Given the description of an element on the screen output the (x, y) to click on. 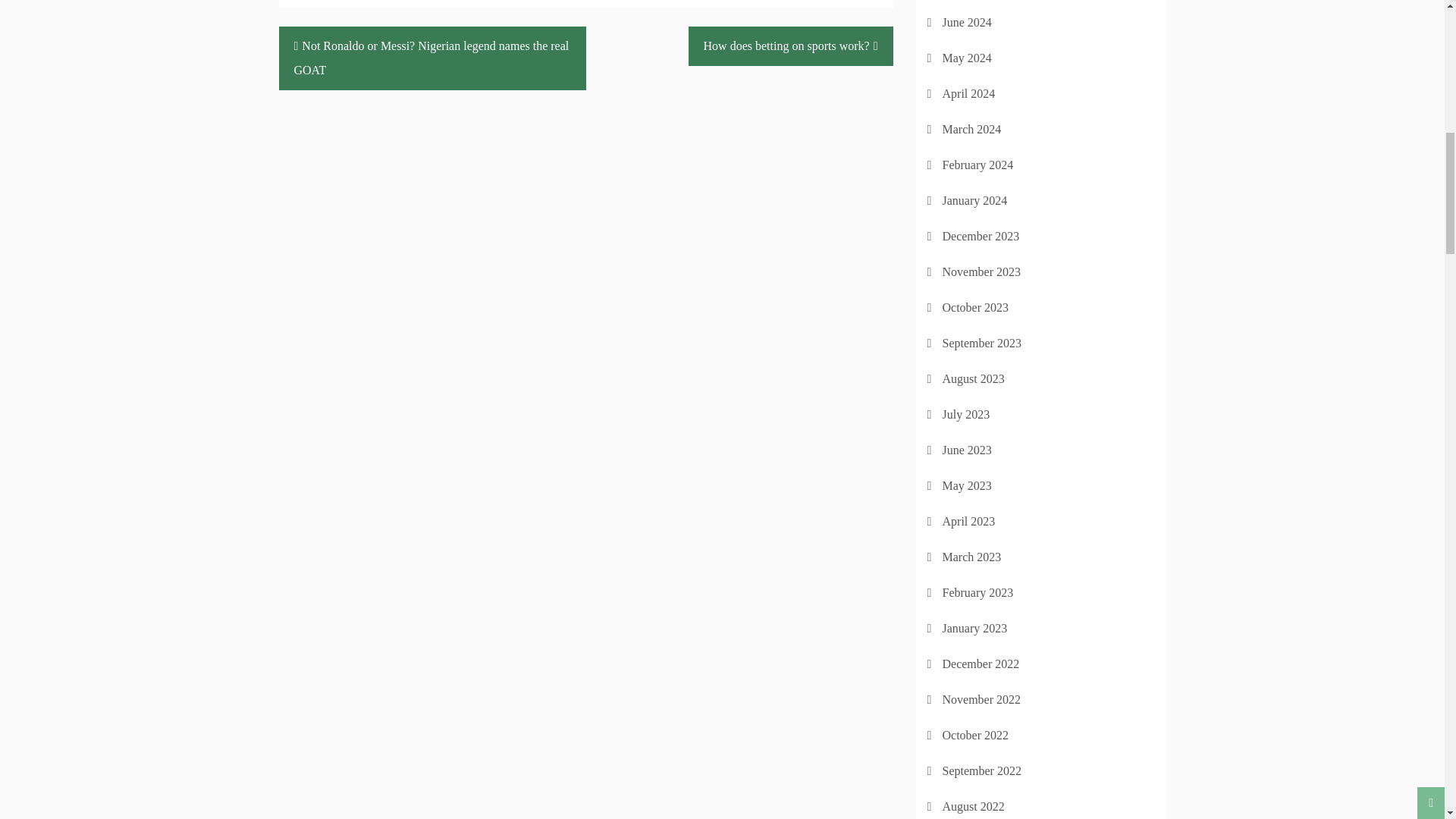
Not Ronaldo or Messi? Nigerian legend names the real GOAT (432, 57)
How does betting on sports work? (790, 45)
